Given the description of an element on the screen output the (x, y) to click on. 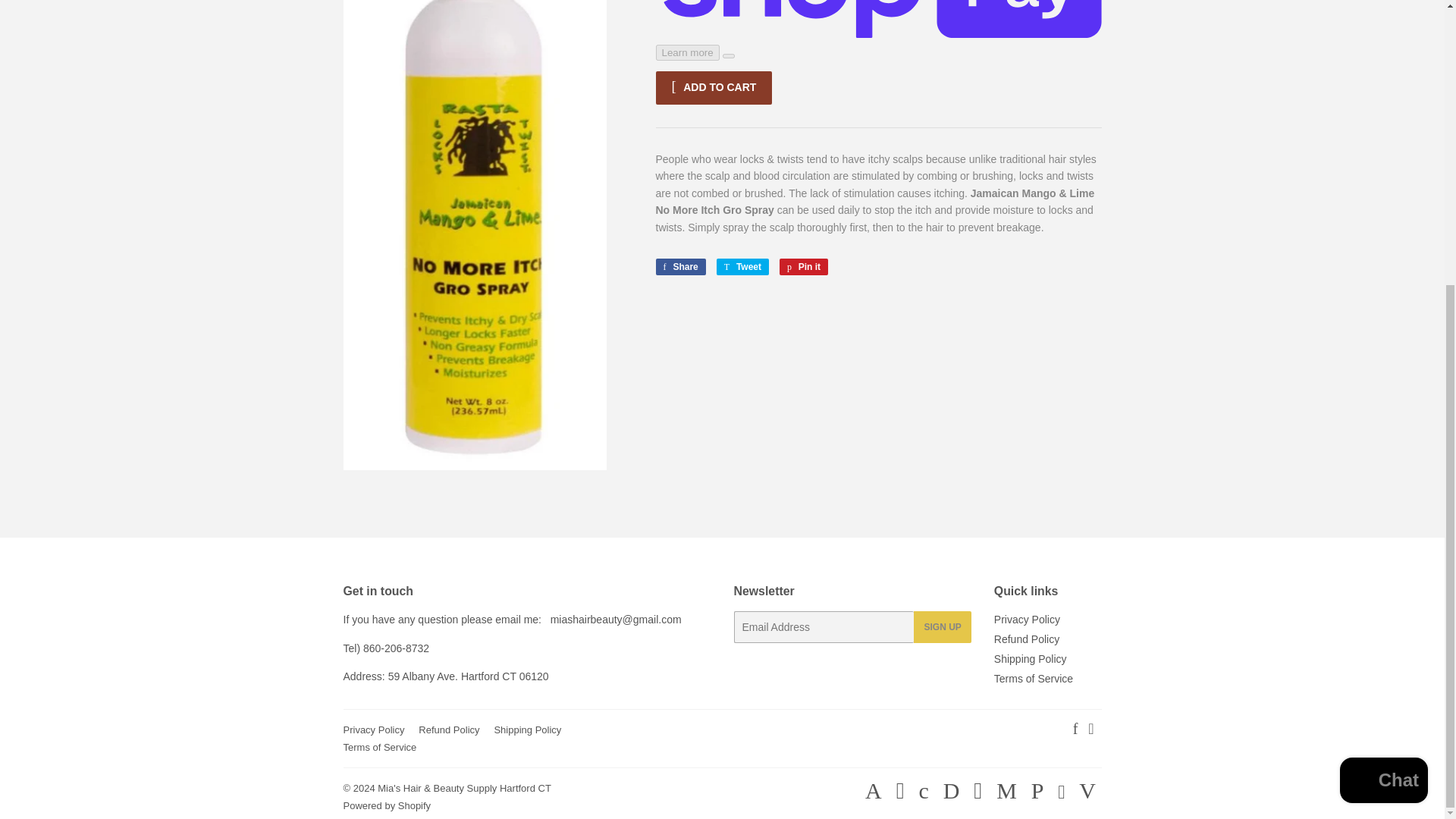
Tweet on Twitter (742, 266)
Share on Facebook (679, 266)
Shopify online store chat (1383, 351)
Pin on Pinterest (803, 266)
